Given the description of an element on the screen output the (x, y) to click on. 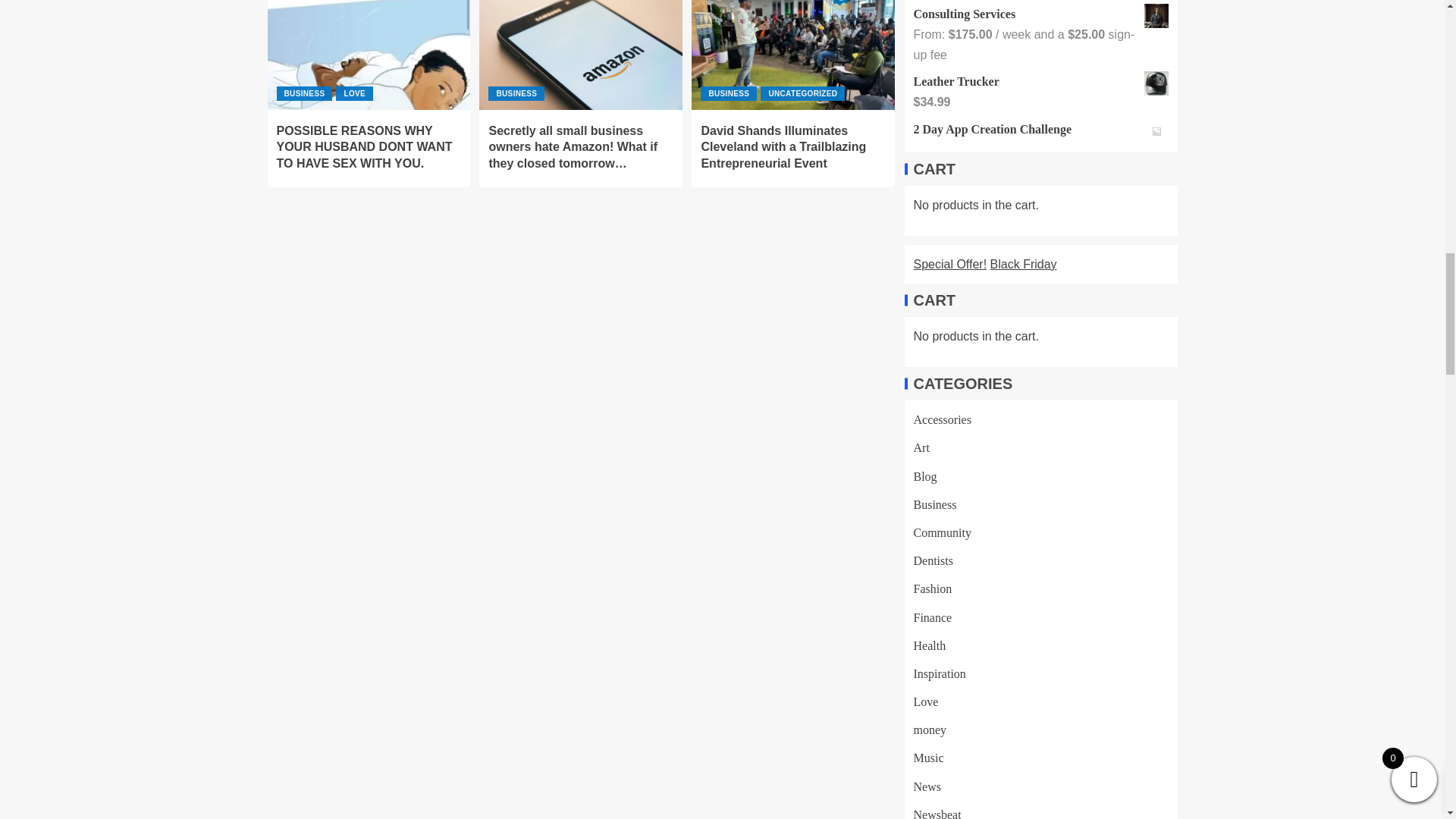
BUSINESS (303, 93)
BUSINESS (515, 93)
Black Friday (1023, 264)
Special Offer! (949, 264)
LOVE (354, 93)
BUSINESS (728, 93)
